Given the description of an element on the screen output the (x, y) to click on. 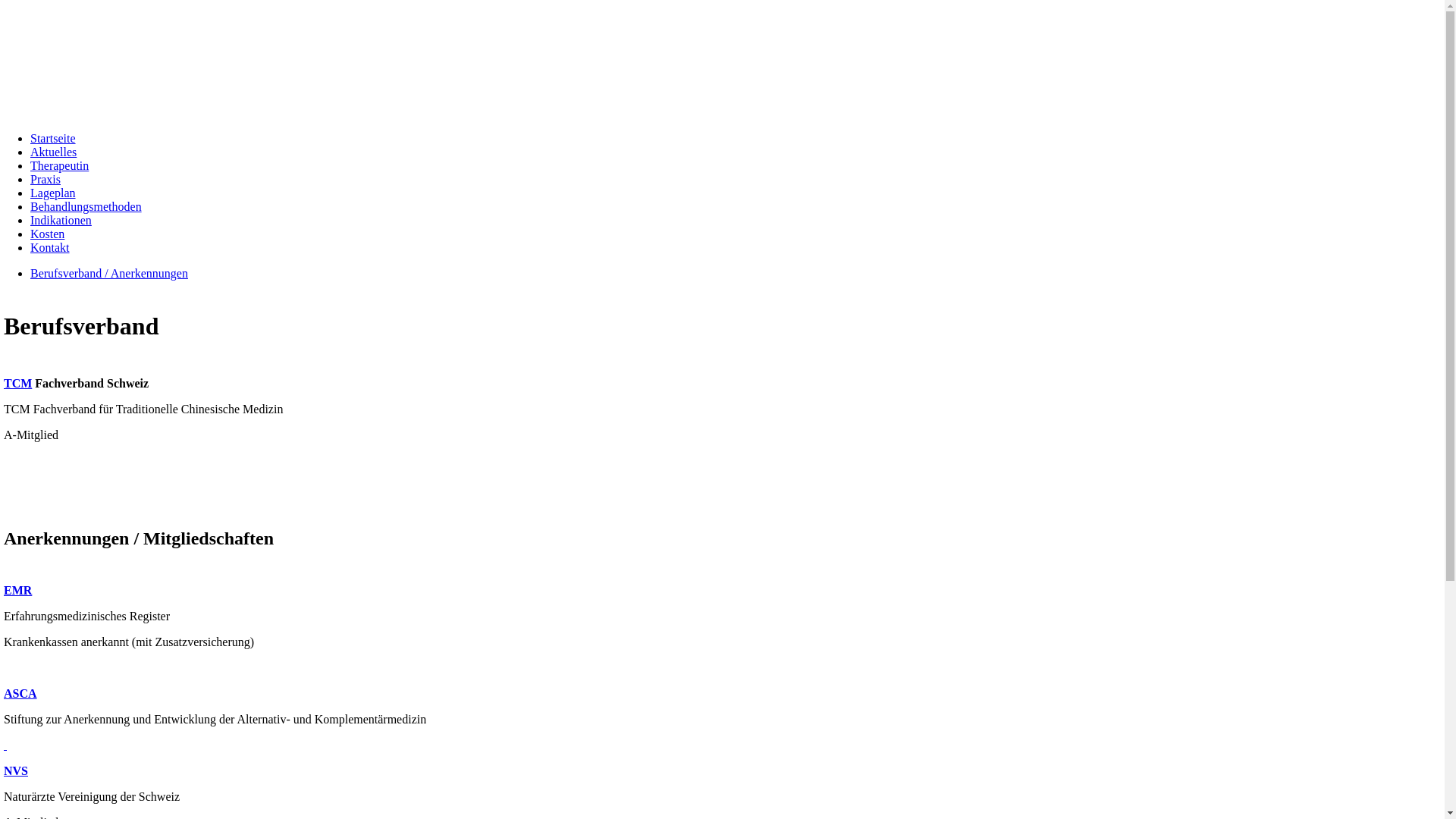
Startseite Element type: text (52, 137)
EMR Element type: text (17, 589)
Berufsverband / Anerkennungen Element type: text (109, 272)
Therapeutin Element type: text (59, 165)
ASCA Element type: text (20, 693)
  Element type: text (4, 744)
Praxis Element type: text (45, 178)
Indikationen Element type: text (60, 219)
Kosten Element type: text (47, 233)
TCM Element type: text (17, 382)
Aktuelles Element type: text (53, 151)
NVS Element type: text (15, 770)
Behandlungsmethoden Element type: text (85, 206)
Kontakt Element type: text (49, 247)
Lageplan Element type: text (52, 192)
